Given the description of an element on the screen output the (x, y) to click on. 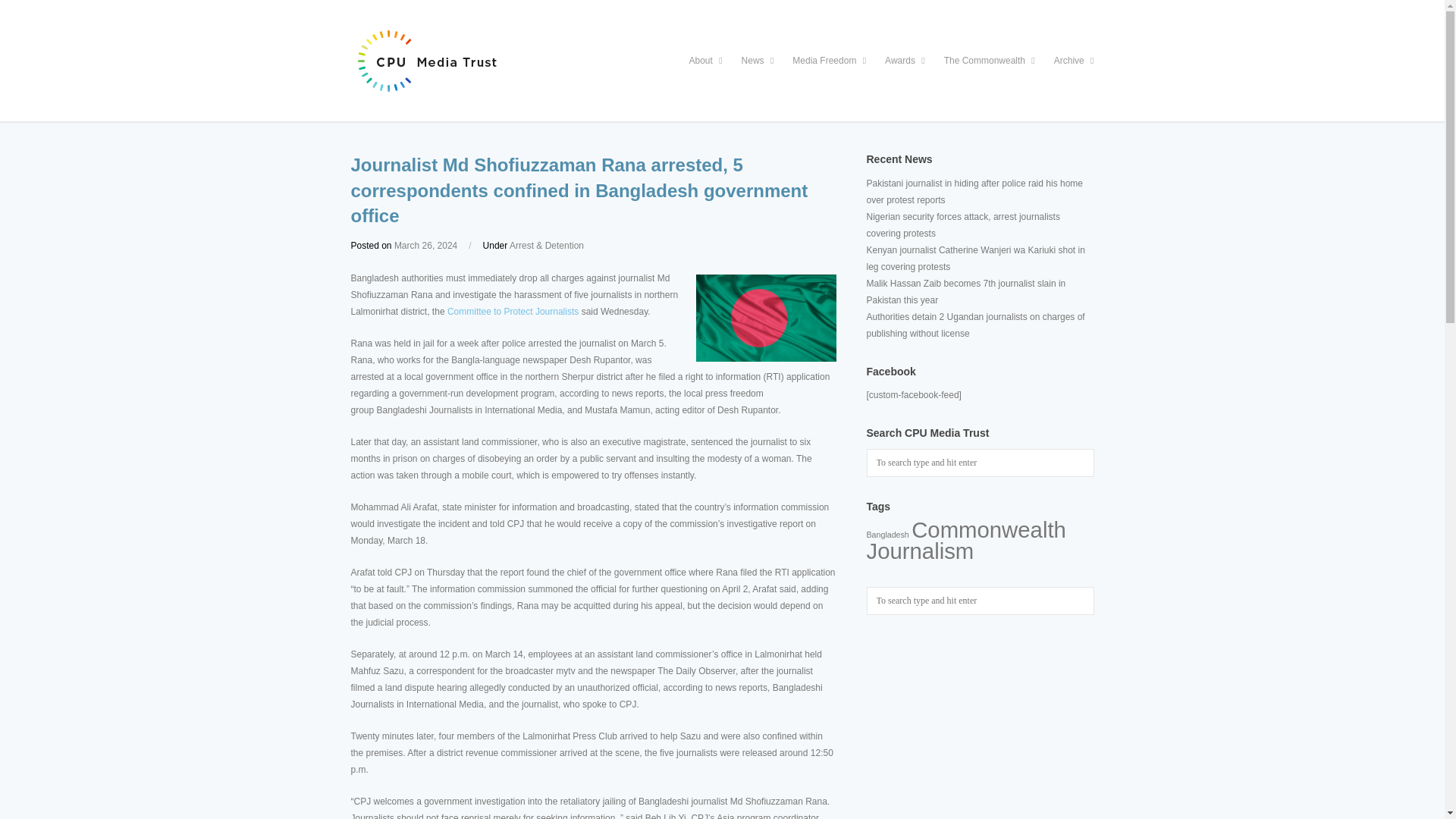
About (705, 60)
News (757, 60)
Media Freedom (829, 60)
The Commonwealth (989, 60)
Awards (904, 60)
CPU Media Trust (721, 60)
